Given the description of an element on the screen output the (x, y) to click on. 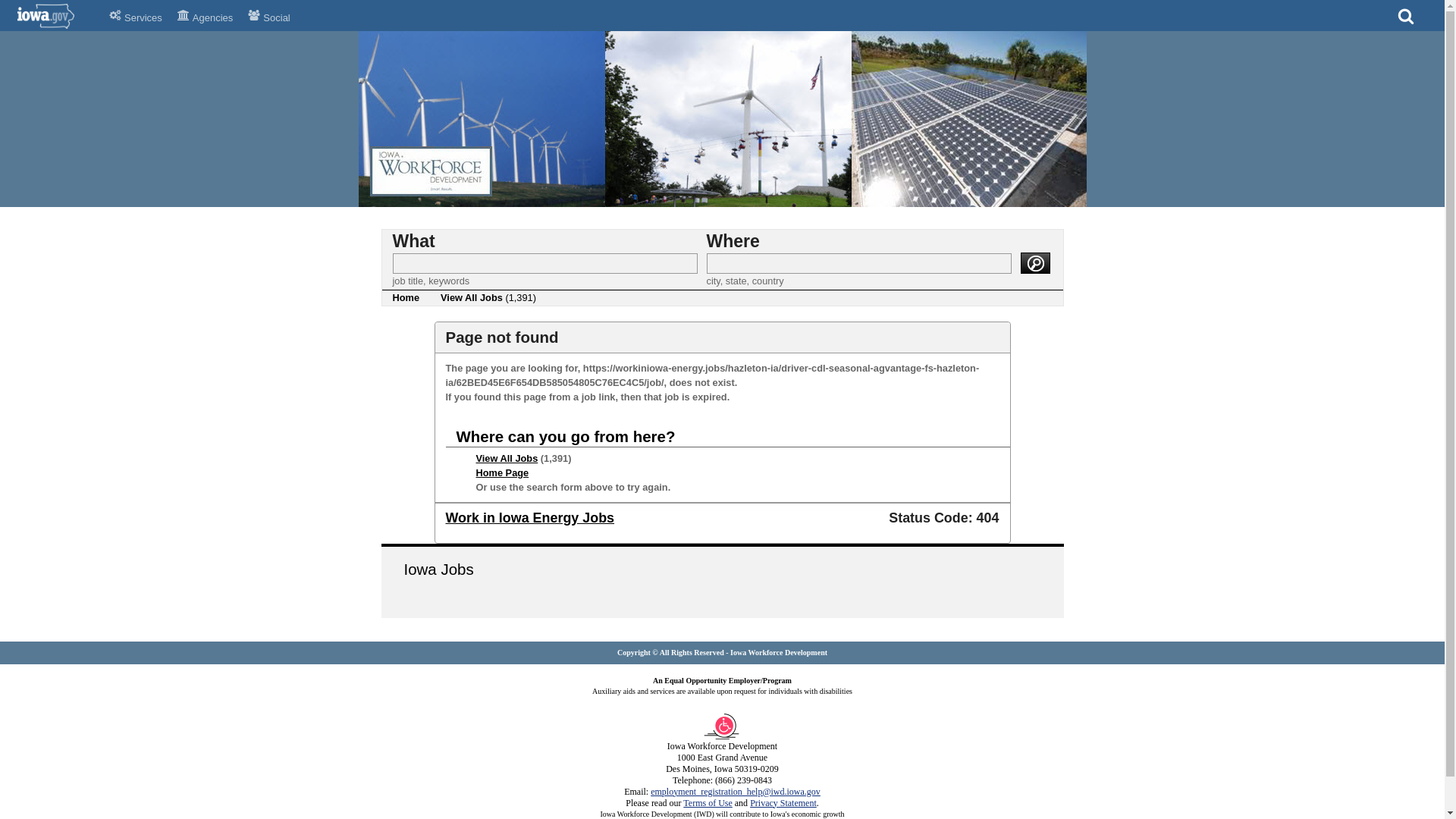
Services (135, 15)
Terms of Use (707, 802)
Home (405, 297)
Work In Iowa (722, 203)
Submit Search (1034, 262)
Privacy Statement (782, 802)
search (1034, 262)
search (1034, 262)
Search Phrase (545, 263)
View All Jobs (507, 458)
